Given the description of an element on the screen output the (x, y) to click on. 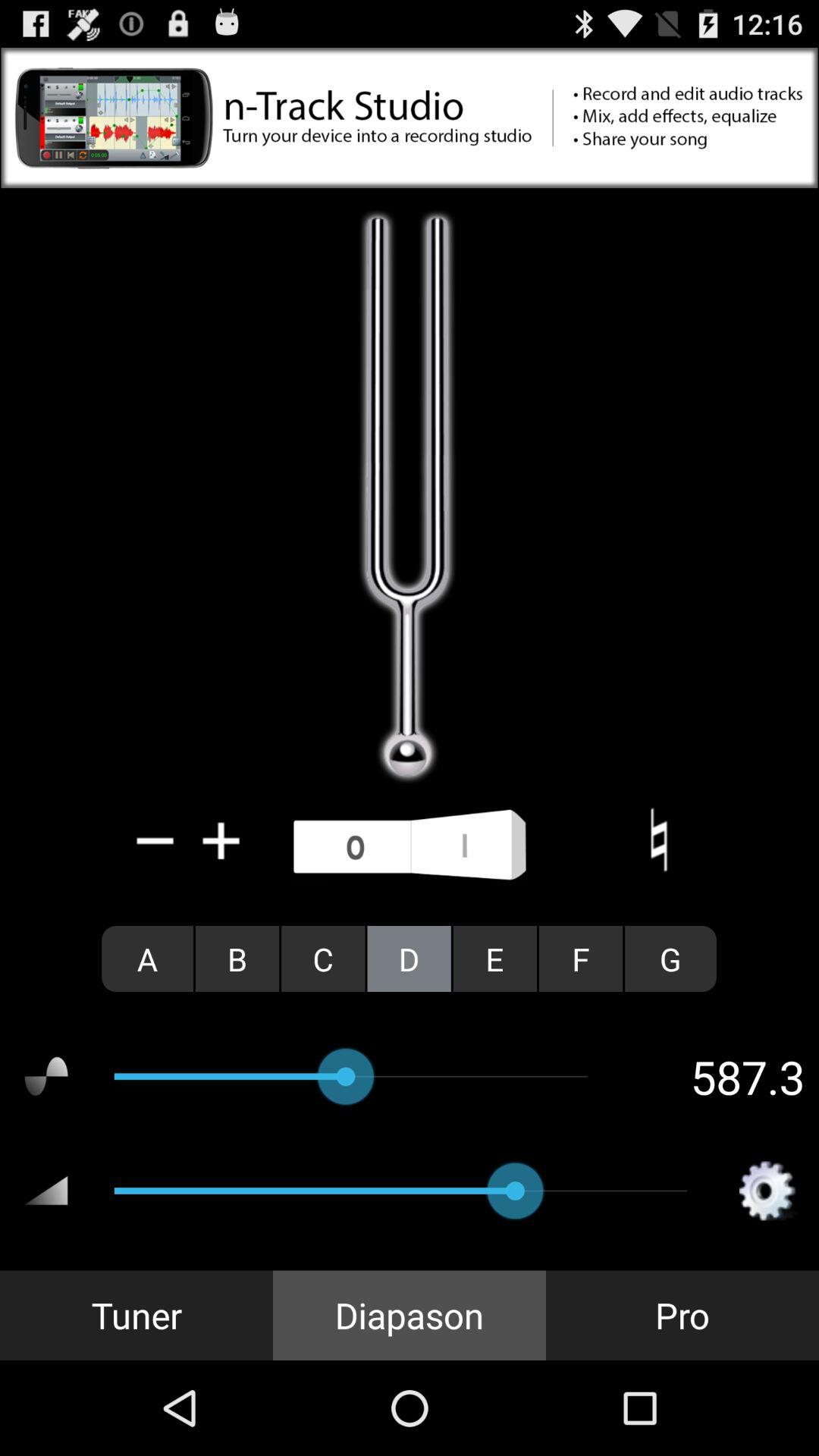
launch radio button to the right of the a item (237, 958)
